Given the description of an element on the screen output the (x, y) to click on. 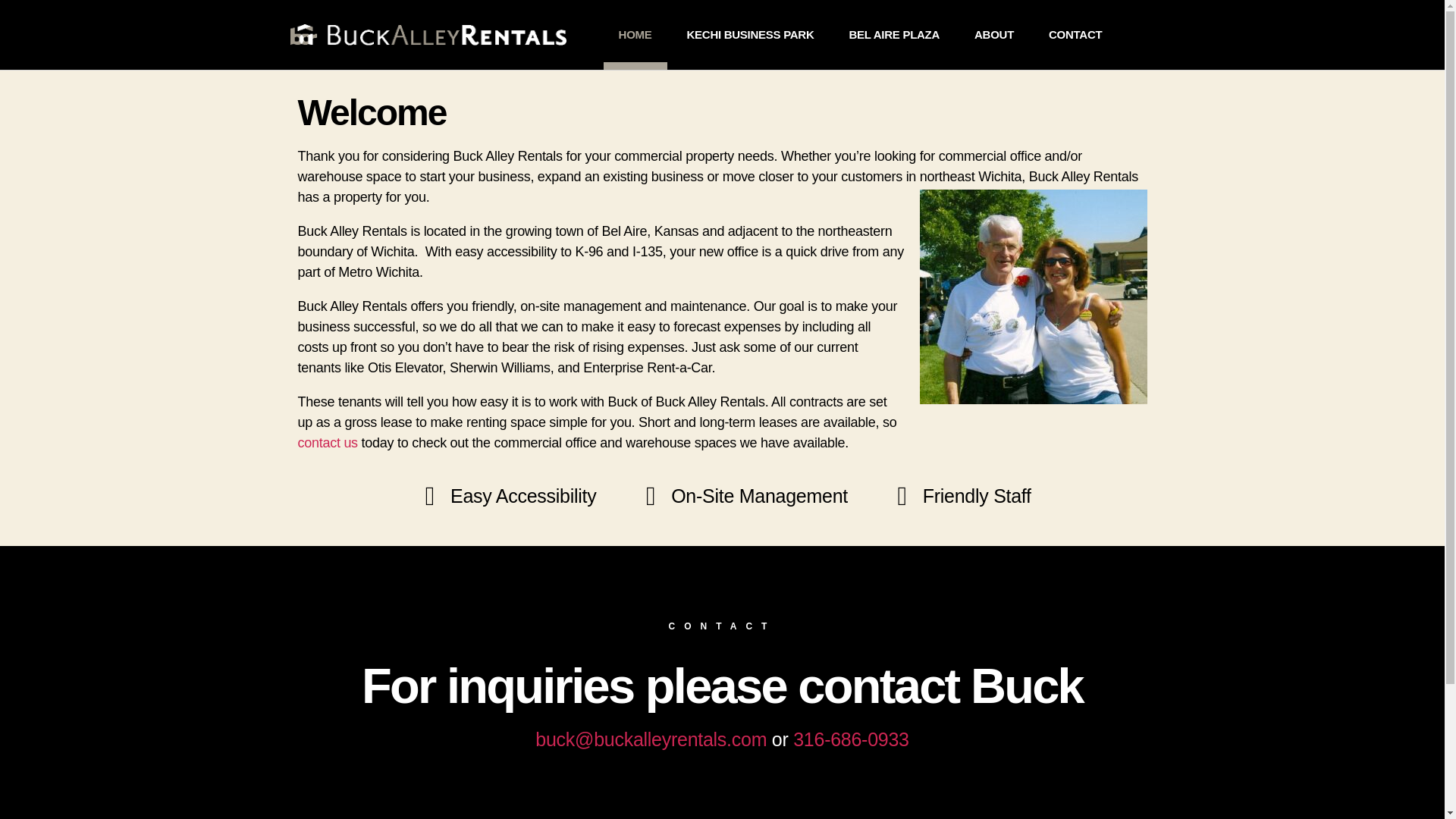
ABOUT (994, 34)
316-686-0933 (850, 738)
BEL AIRE PLAZA (893, 34)
HOME (635, 34)
KECHI BUSINESS PARK (750, 34)
contact us (326, 442)
CONTACT (1074, 34)
